Given the description of an element on the screen output the (x, y) to click on. 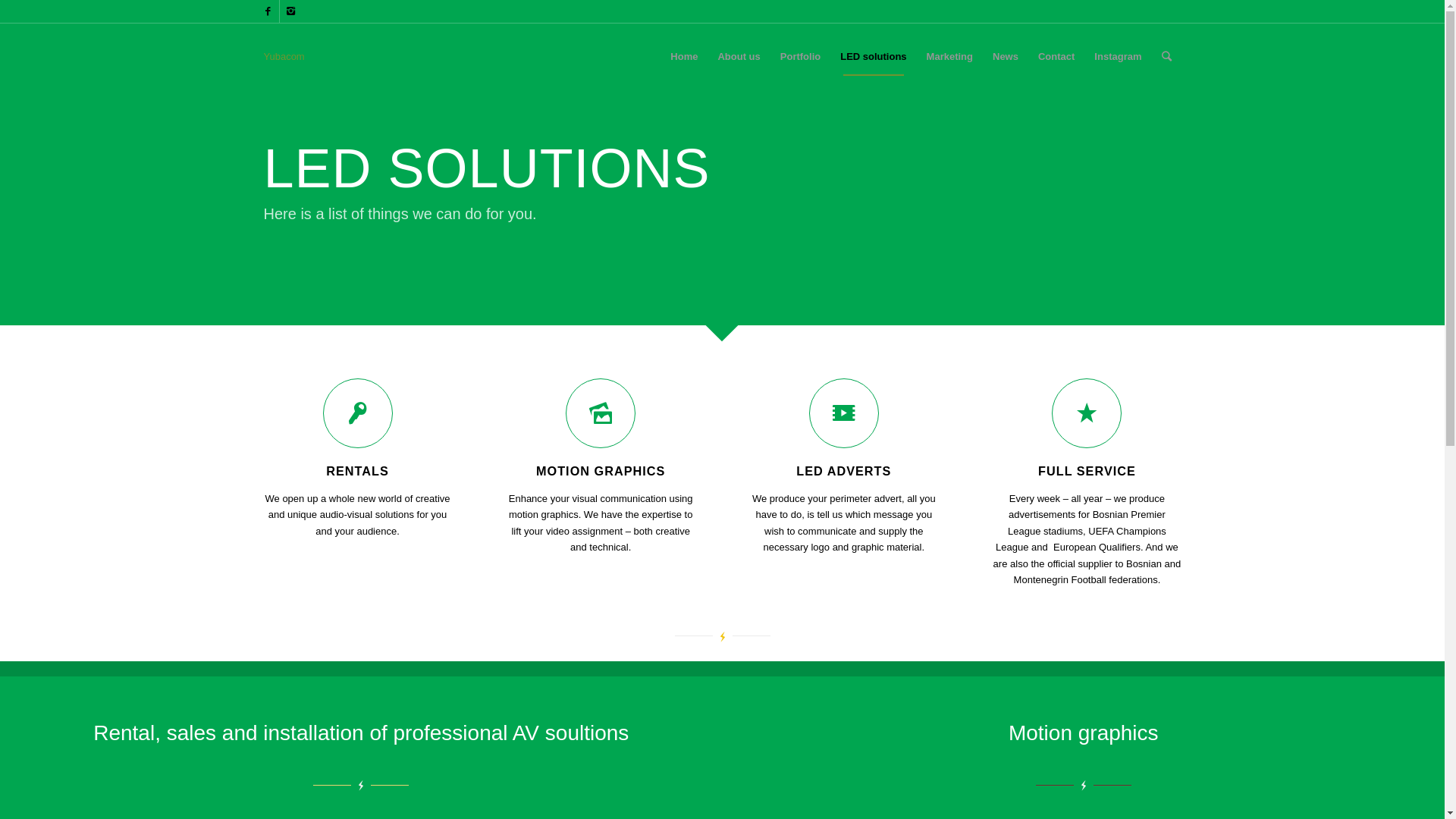
Instagram Element type: hover (290, 11)
About us Element type: text (738, 56)
News Element type: text (1005, 56)
Marketing Element type: text (949, 56)
Contact Element type: text (1056, 56)
LED solutions Element type: text (873, 56)
Facebook Element type: hover (267, 11)
Home Element type: text (683, 56)
Yubacom Element type: text (283, 56)
Portfolio Element type: text (800, 56)
Instagram Element type: text (1117, 56)
